Given the description of an element on the screen output the (x, y) to click on. 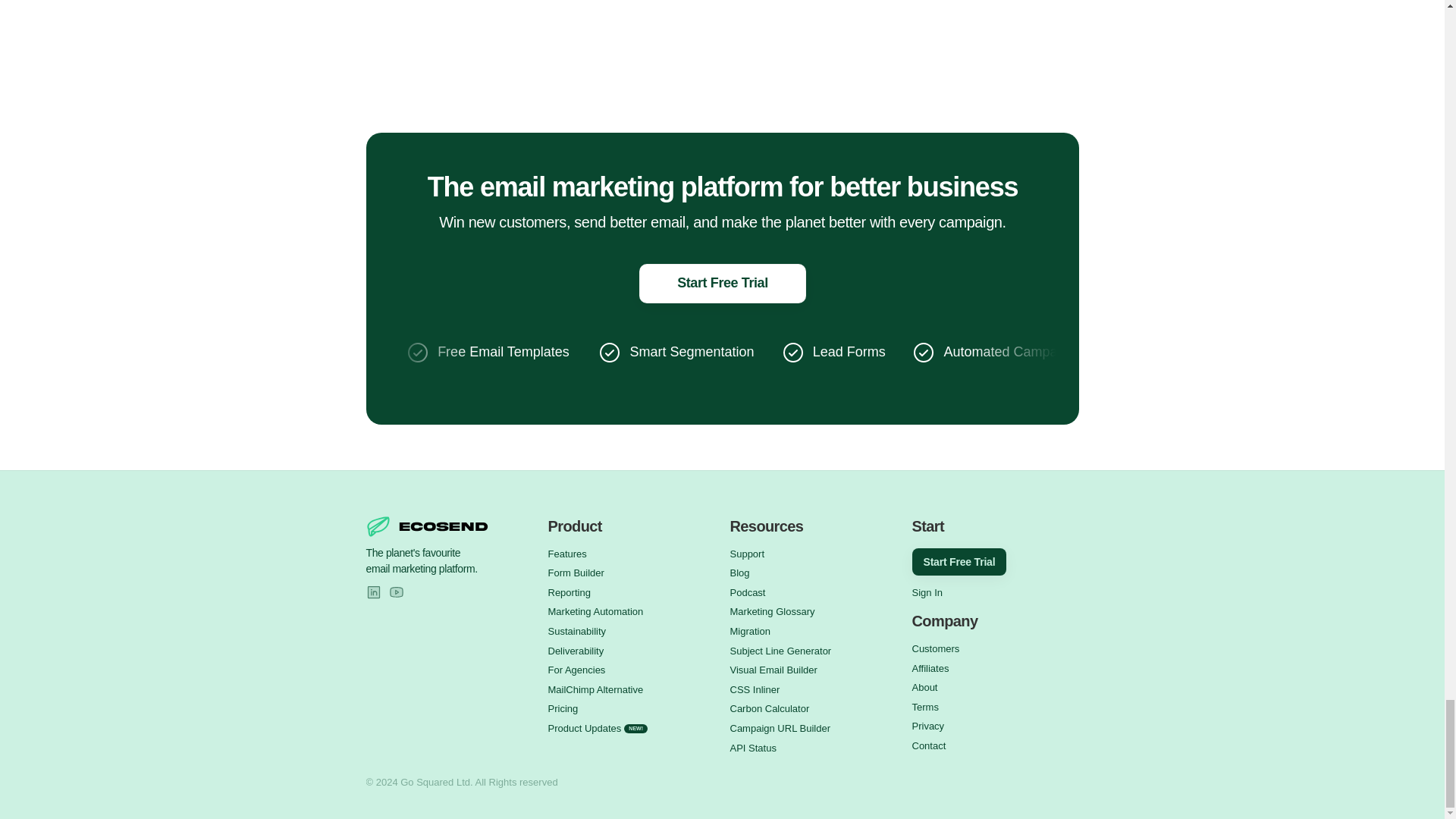
CSS Inliner (753, 689)
Migration (749, 631)
Reporting (568, 592)
Features (566, 553)
Podcast (747, 592)
Marketing Automation (595, 611)
Marketing Glossary (771, 611)
Form Builder (575, 572)
Product Updates (584, 727)
Pricing (562, 708)
For Agencies (576, 669)
Carbon Calculator (769, 708)
Deliverability (575, 650)
Start Free Trial (722, 283)
MailChimp Alternative (595, 689)
